Given the description of an element on the screen output the (x, y) to click on. 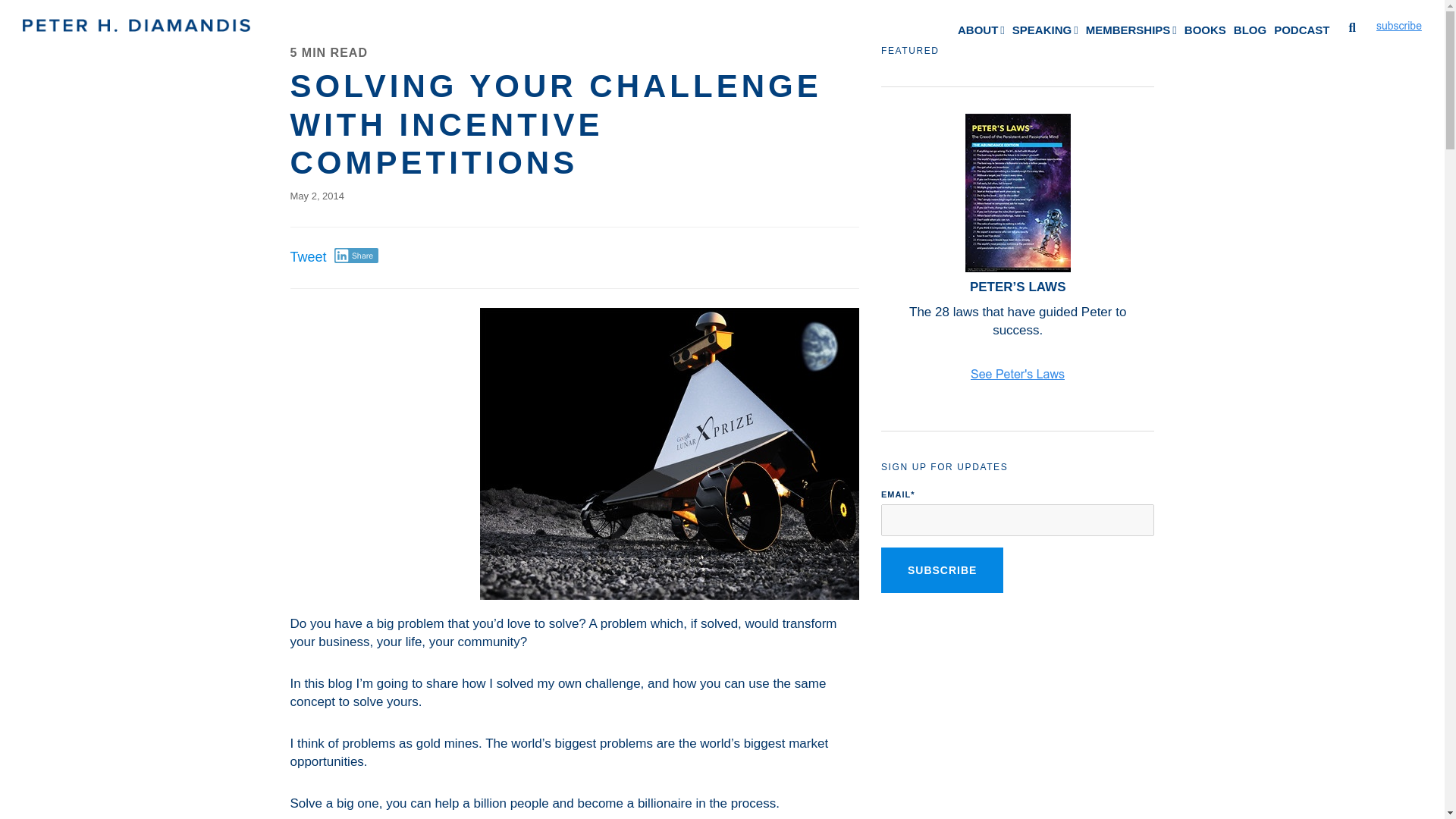
BLOG (1249, 30)
SPEAKING (1045, 30)
BOOKS (1205, 30)
MEMBERSHIPS (1130, 30)
ABOUT (981, 30)
Subscribe (941, 569)
